Given the description of an element on the screen output the (x, y) to click on. 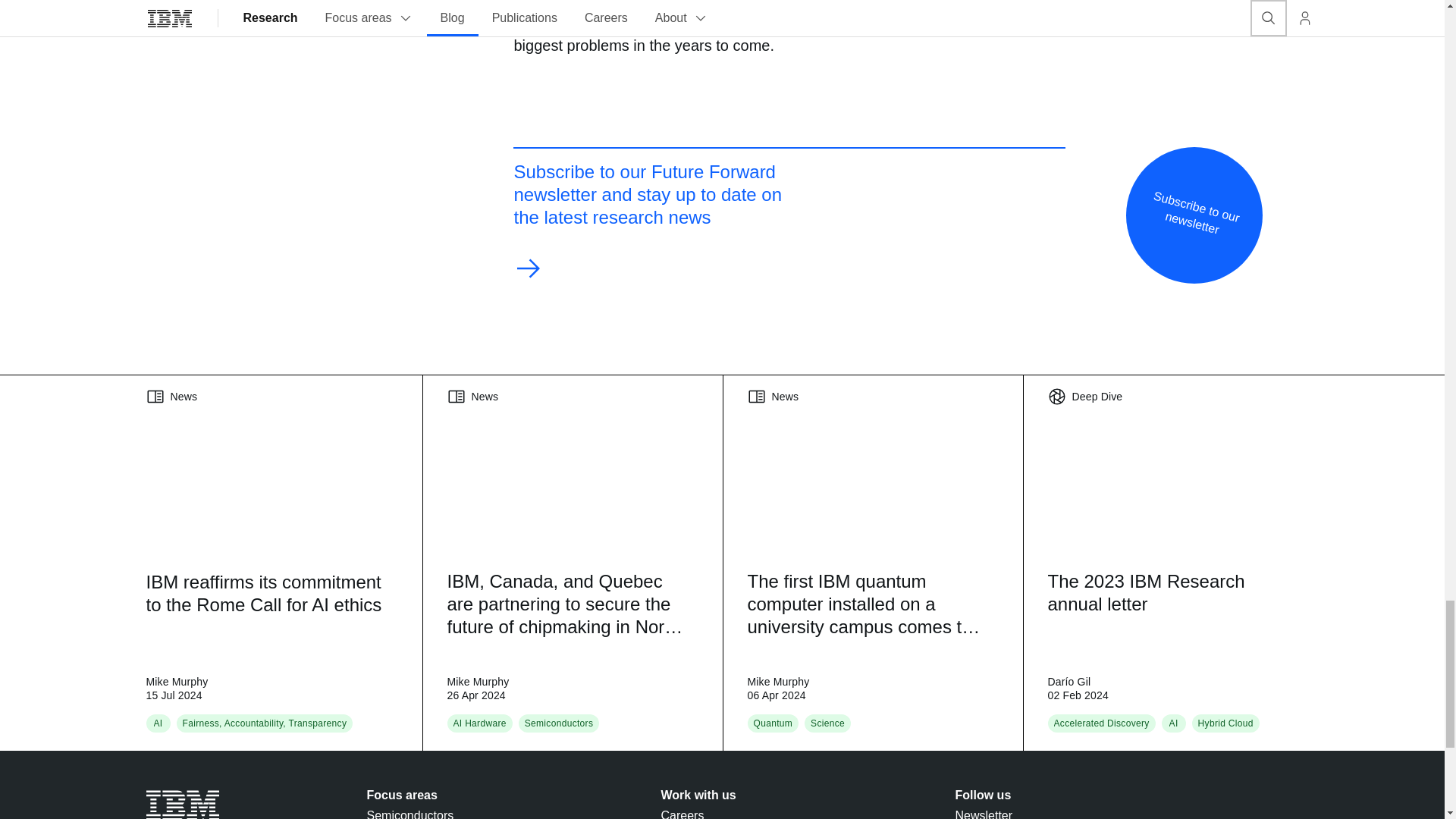
Accelerated Discovery (1102, 723)
Quantum (773, 723)
AI Hardware (479, 723)
Hybrid Cloud (1225, 723)
IBM Logo (181, 804)
Science (827, 723)
Fairness, Accountability, Transparency (264, 723)
Semiconductors (559, 723)
